Given the description of an element on the screen output the (x, y) to click on. 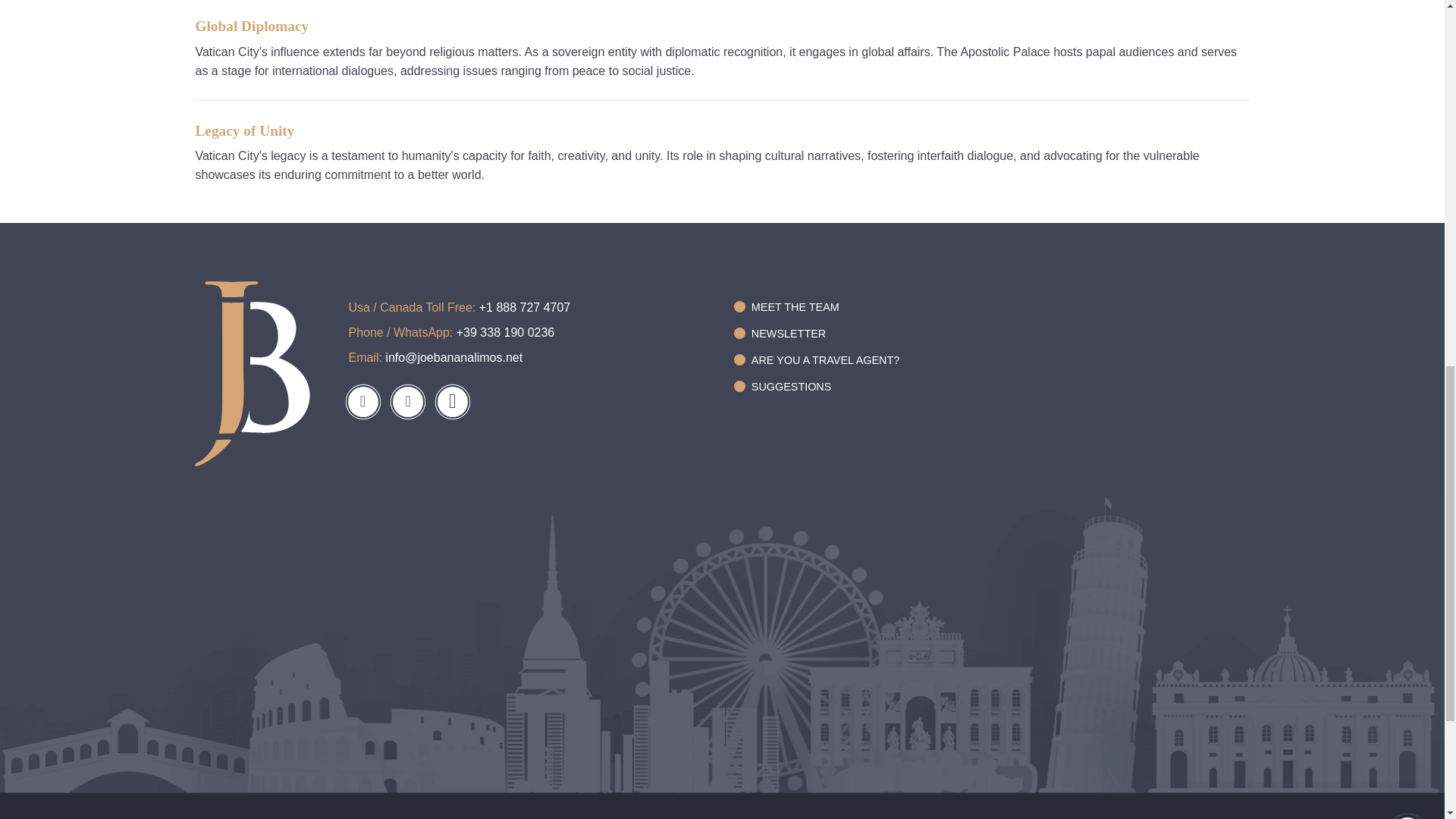
tripadvisor (452, 401)
instagram (408, 401)
facebook (362, 401)
MEET THE TEAM (816, 306)
